Given the description of an element on the screen output the (x, y) to click on. 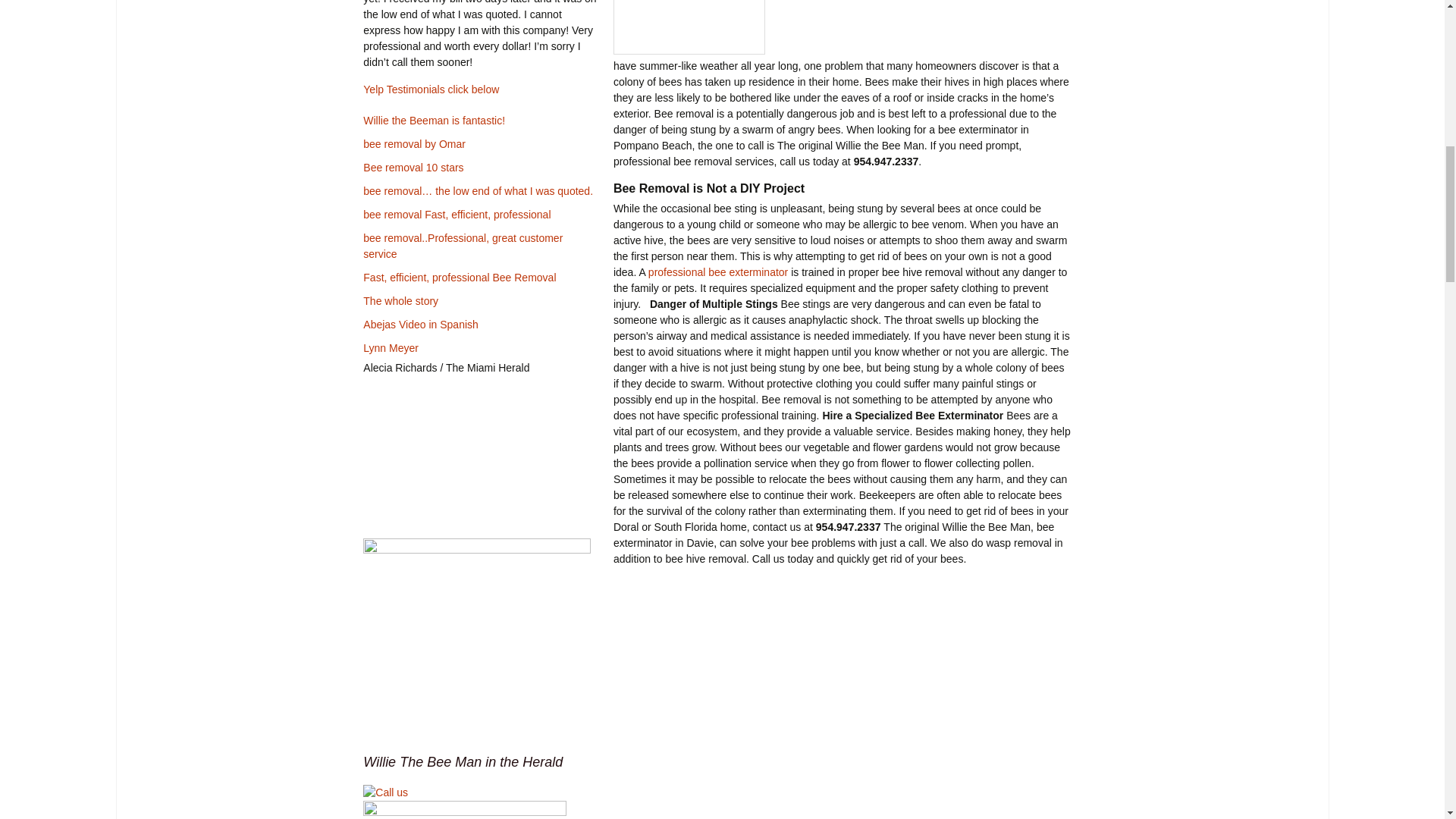
bee removal Fast, efficient, professional (456, 214)
Willie the Beeman is fantastic! (433, 120)
Yelp Testimonials click below (430, 89)
Bee removal 10 stars (412, 167)
The whole story (400, 300)
bee removal by Omar (413, 143)
Fast, efficient, professional Bee Removal (459, 277)
professional bee exterminator (717, 272)
bee removal..Professional, great customer service (462, 245)
